Given the description of an element on the screen output the (x, y) to click on. 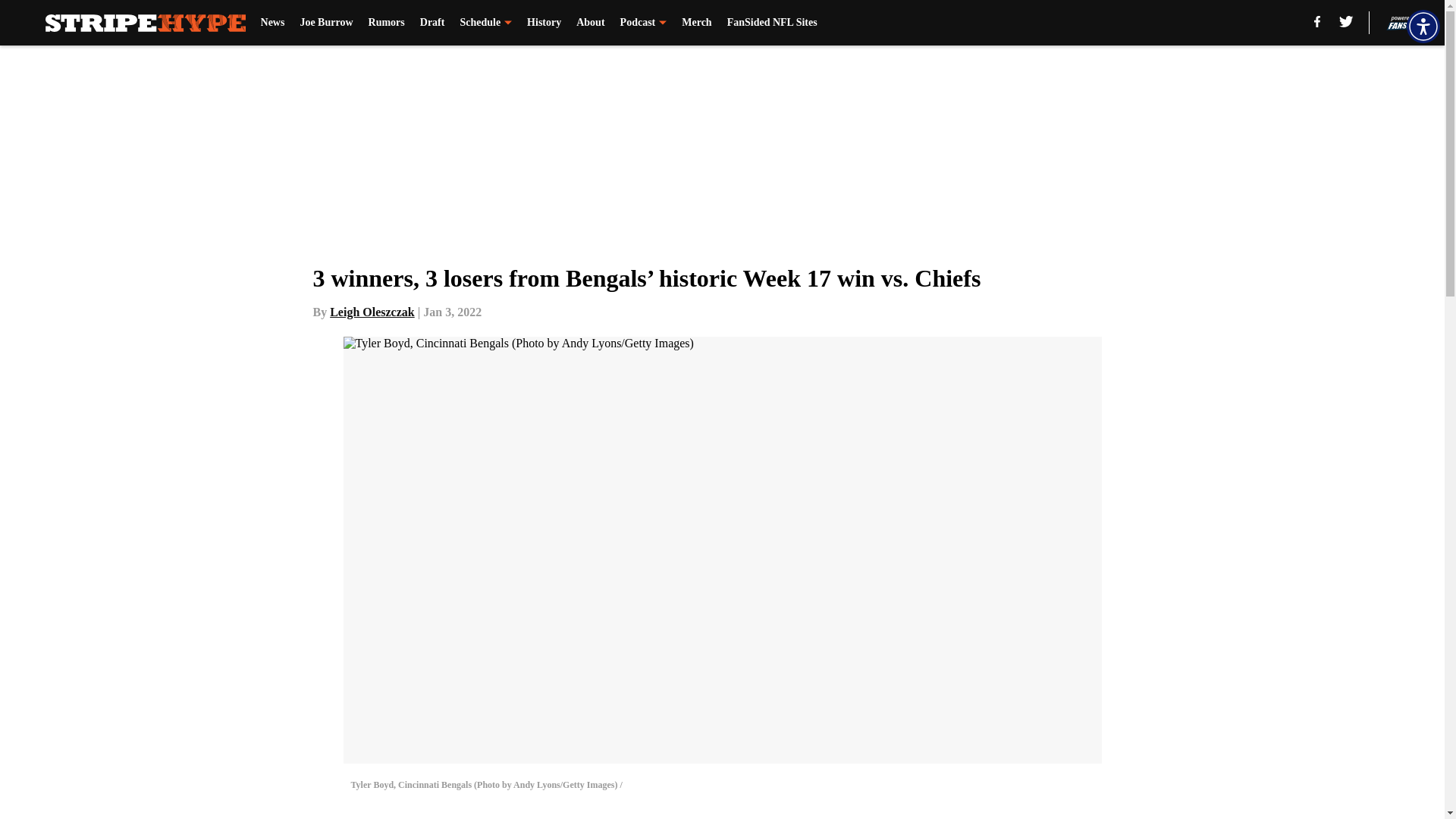
Joe Burrow (325, 22)
News (272, 22)
About (590, 22)
Draft (432, 22)
FanSided NFL Sites (771, 22)
History (543, 22)
Accessibility Menu (1422, 26)
Rumors (386, 22)
Merch (696, 22)
Leigh Oleszczak (372, 311)
